Given the description of an element on the screen output the (x, y) to click on. 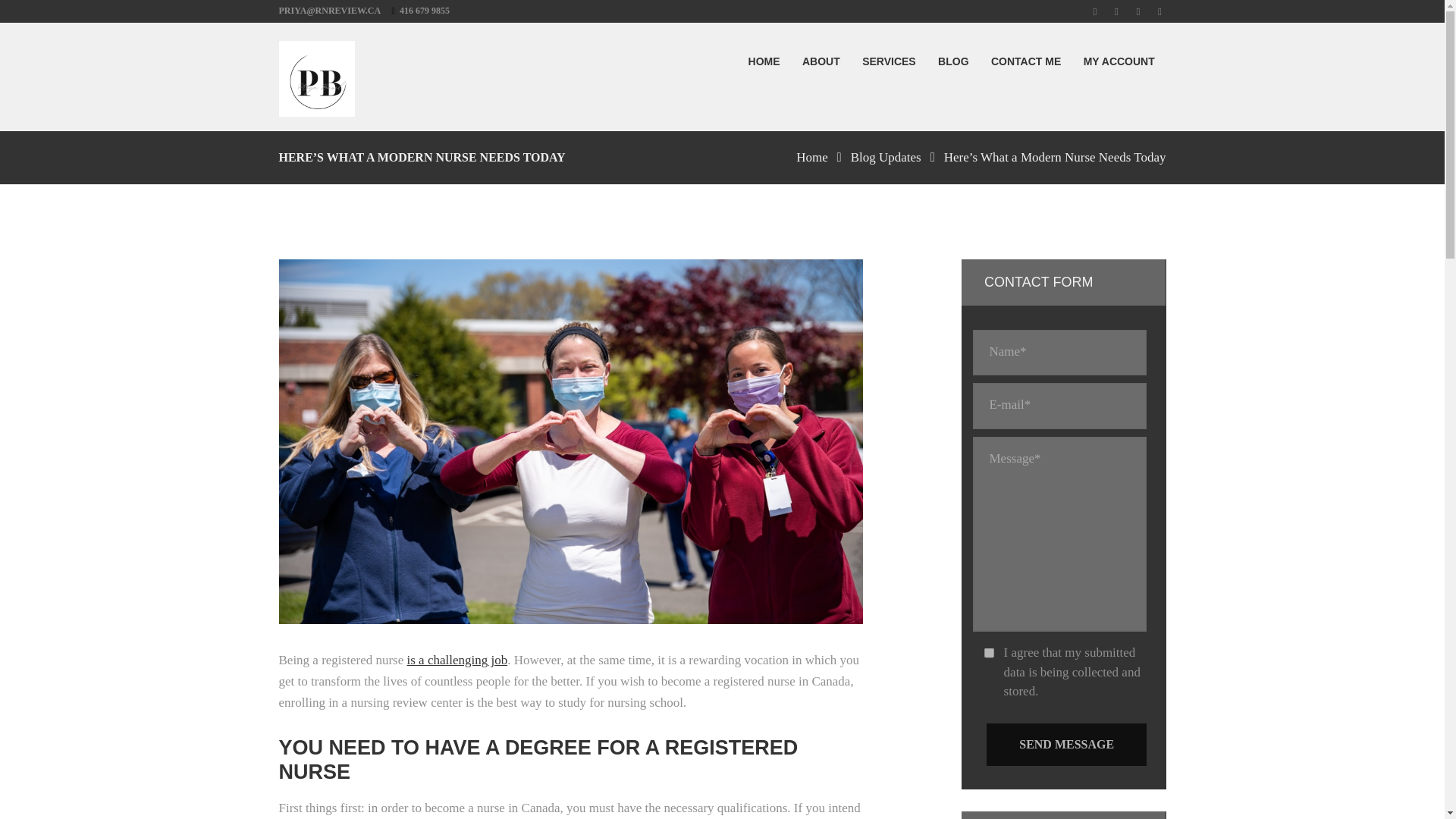
BLOG (952, 66)
416 679 9855 (423, 9)
1 (989, 653)
Send Message (1067, 744)
ABOUT (820, 66)
MY ACCOUNT (1118, 66)
HOME (763, 66)
SERVICES (888, 66)
CONTACT ME (1025, 66)
